Given the description of an element on the screen output the (x, y) to click on. 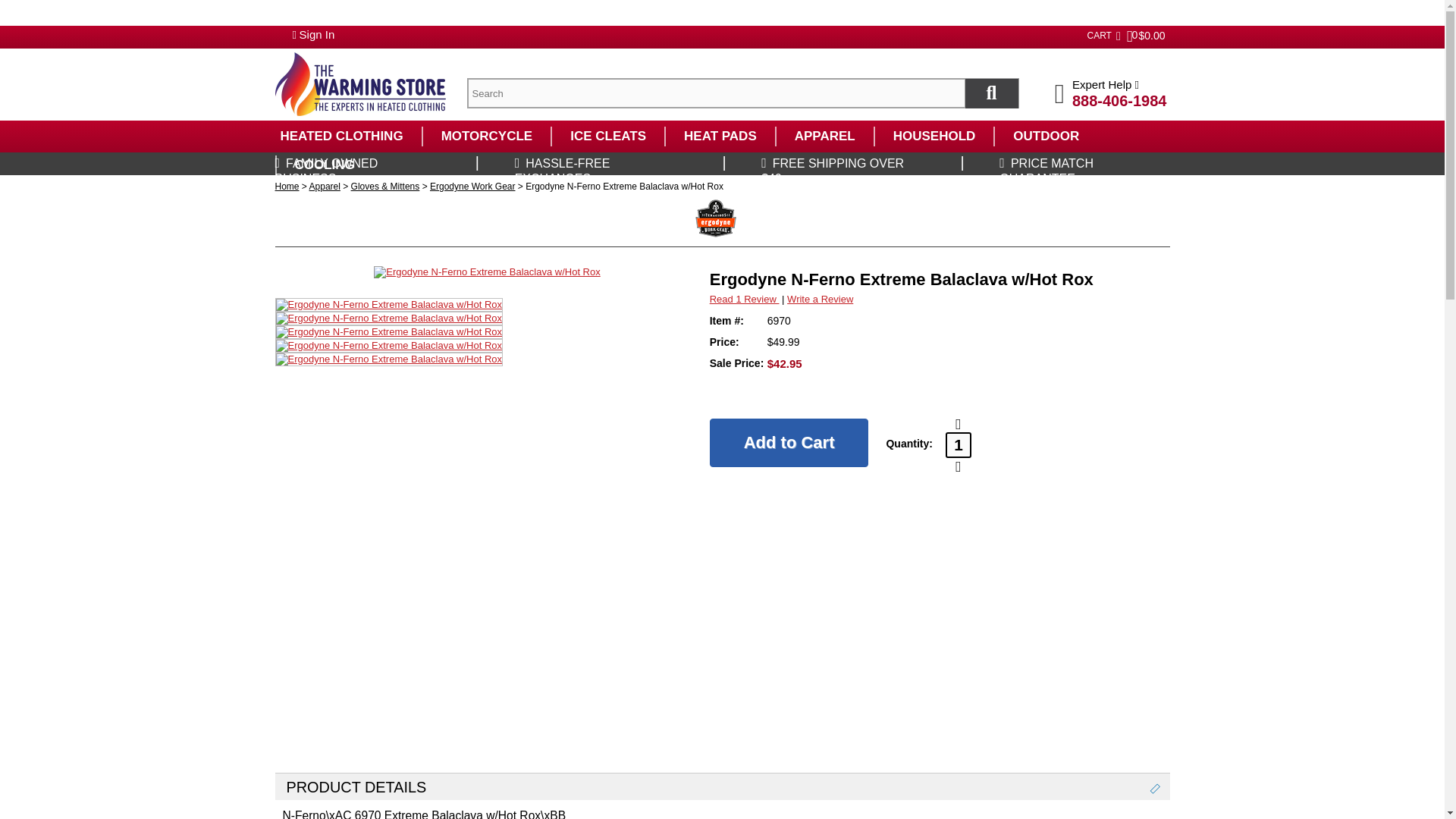
888-406-1984 (1119, 100)
Add to Cart (789, 442)
TheWarmingStore experts in heated clothing (360, 84)
1 (957, 444)
HEATED CLOTHING (340, 137)
Sign In (316, 33)
Expert Help (1110, 83)
CART (1098, 35)
